Given the description of an element on the screen output the (x, y) to click on. 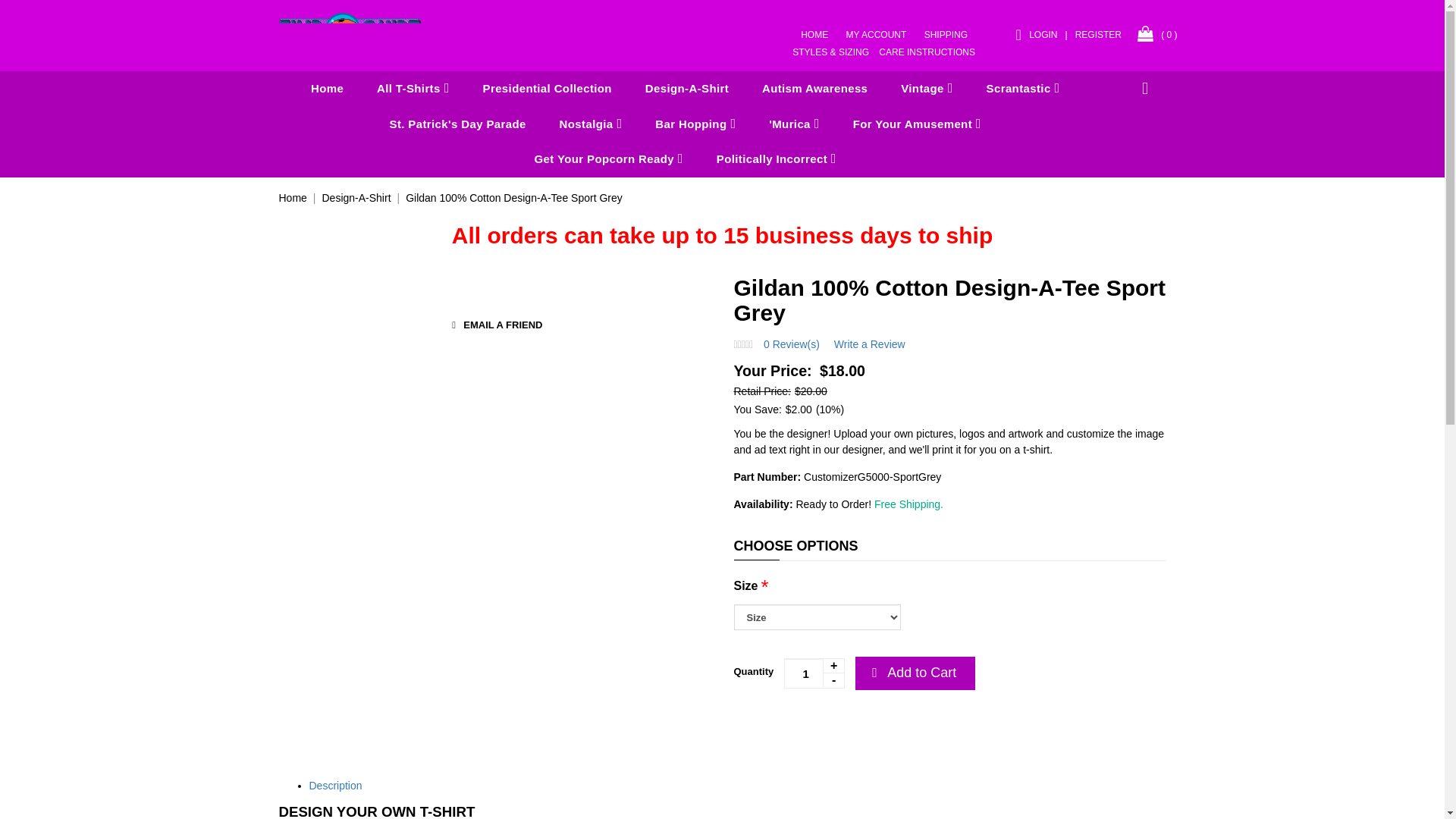
Design-A-Shirt (687, 89)
All T-Shirts (412, 89)
CARE INSTRUCTIONS (927, 51)
Autism Awareness (814, 89)
HOME (814, 34)
MY ACCOUNT (876, 34)
Bar Hopping (695, 123)
Home (326, 89)
LOGIN (1032, 34)
1 (814, 673)
